Given the description of an element on the screen output the (x, y) to click on. 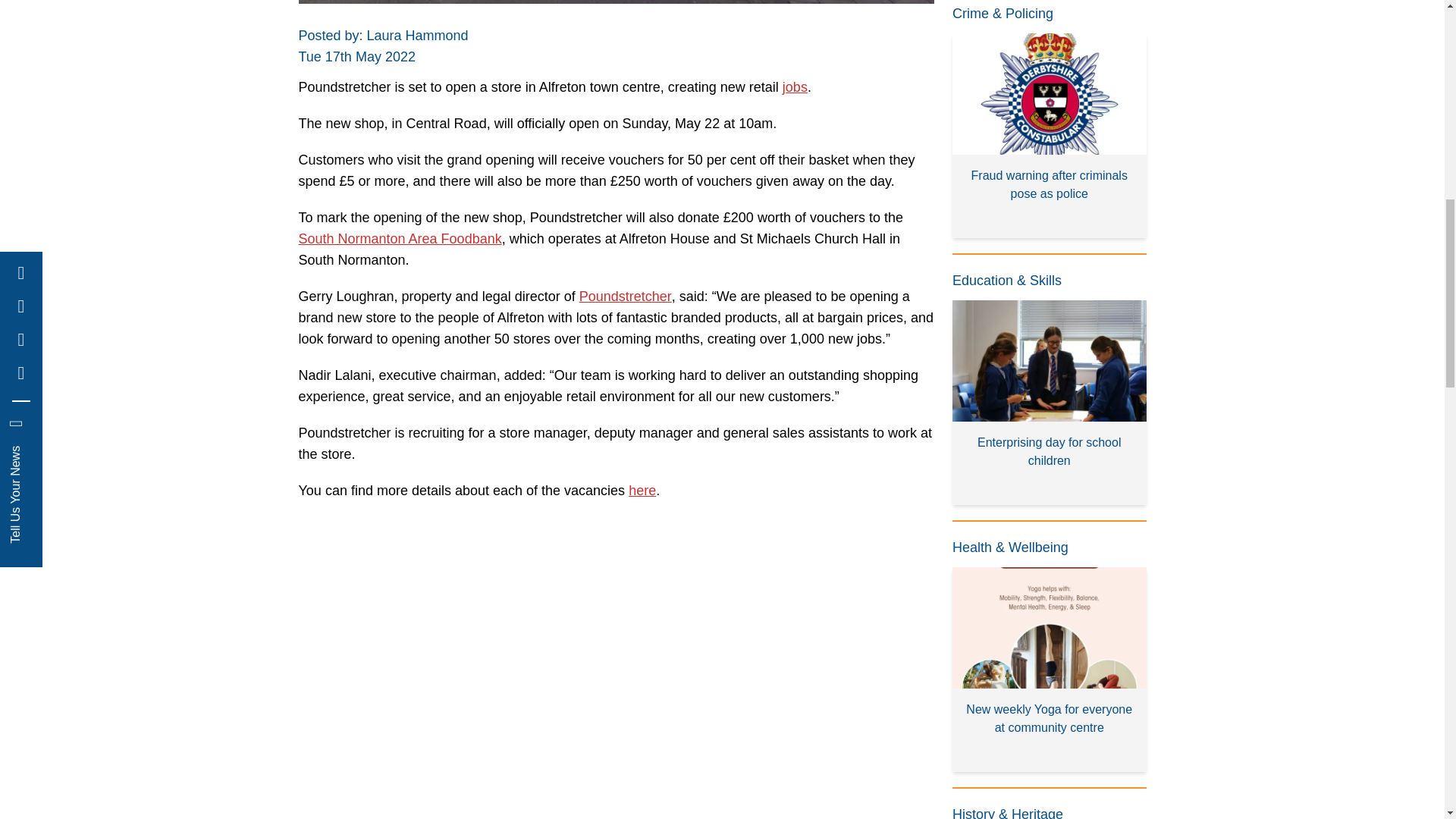
South Normanton Area Foodbank (400, 238)
Poundstretcher (625, 296)
New weekly Yoga for everyone at community centre (1049, 669)
Fraud warning after criminals pose as police (1049, 135)
Enterprising day for school children (1049, 402)
here (642, 490)
jobs (795, 87)
